Given the description of an element on the screen output the (x, y) to click on. 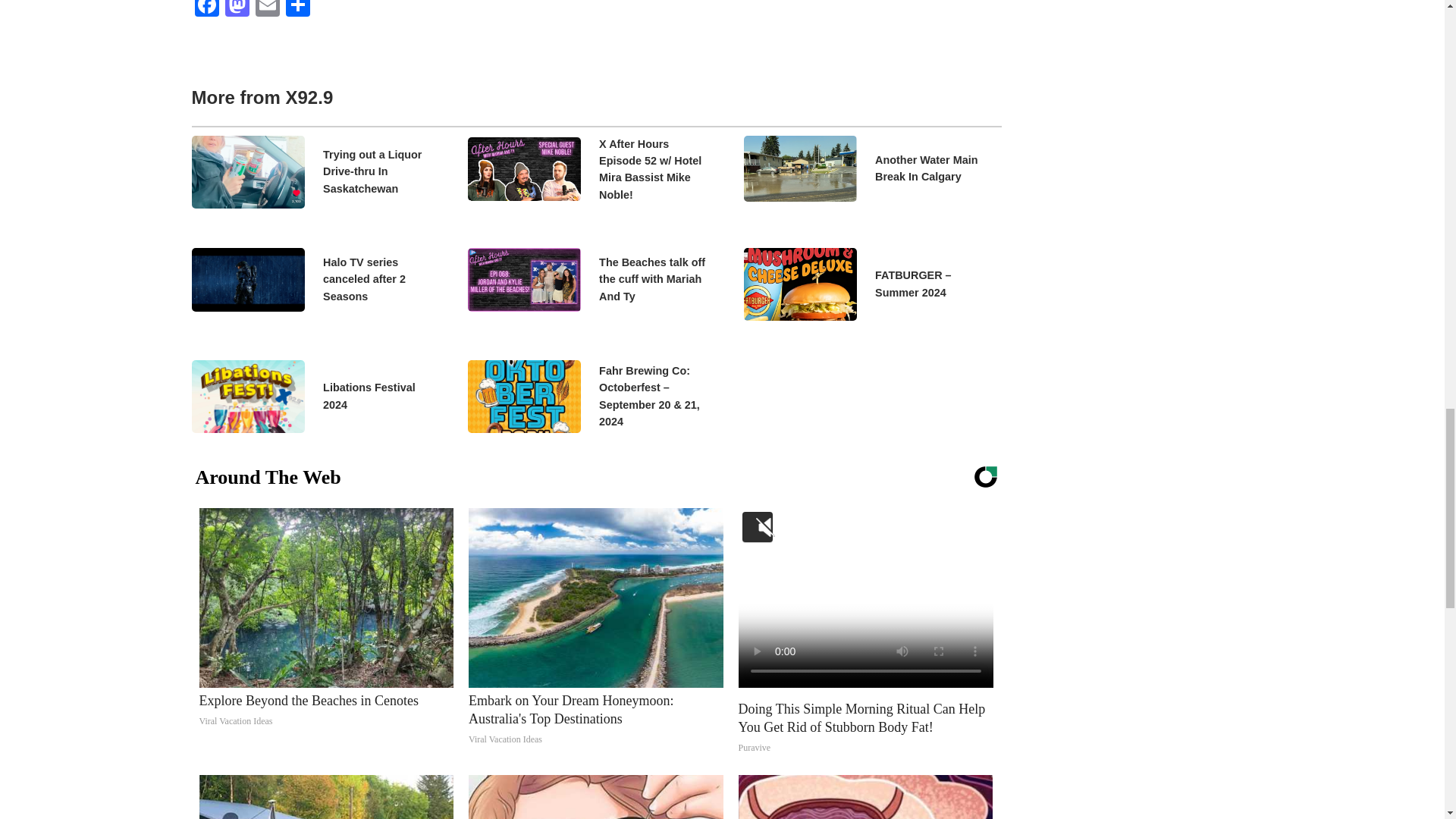
Email (266, 10)
Facebook (205, 10)
Mastodon (236, 10)
